Given the description of an element on the screen output the (x, y) to click on. 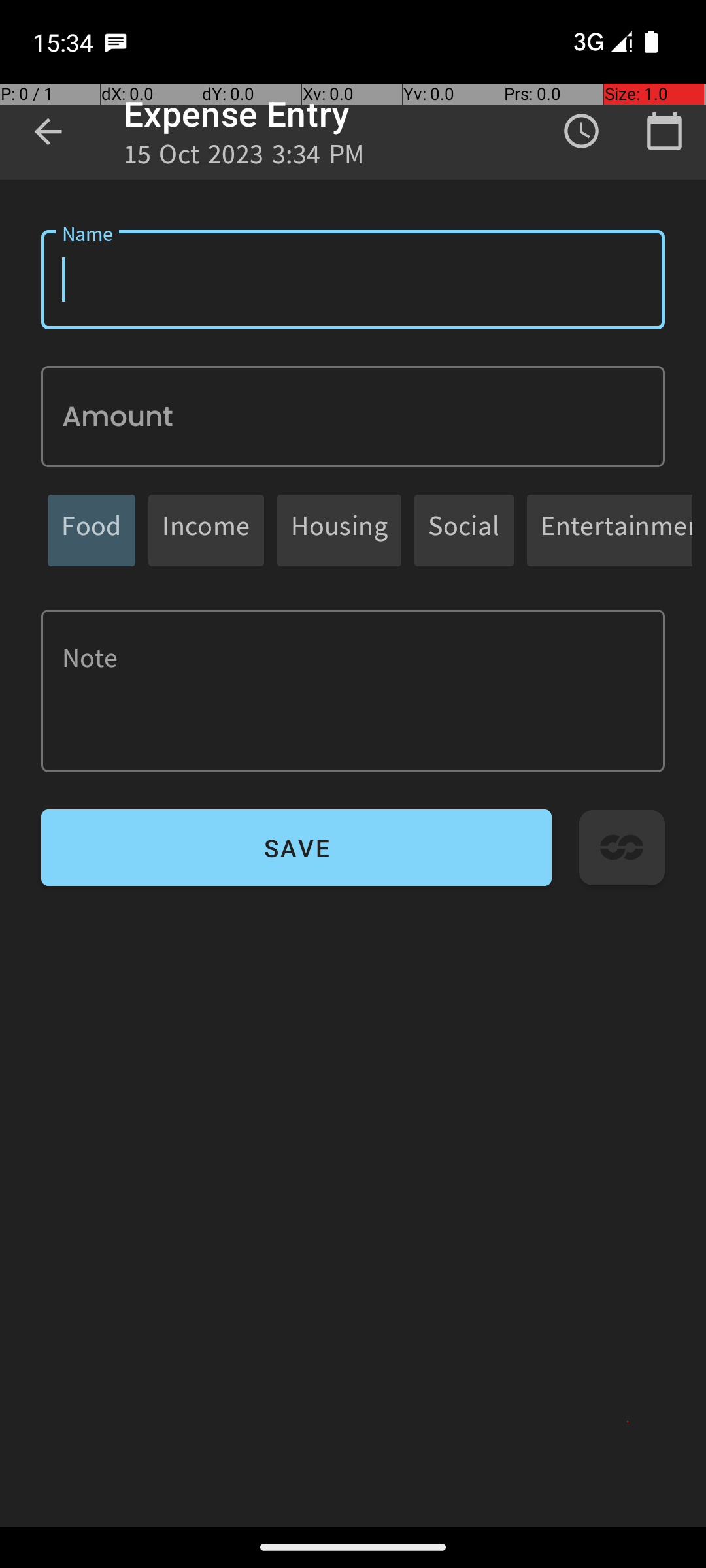
Expense Entry Element type: android.widget.TextView (236, 113)
15 Oct 2023 3:34 PM Element type: android.widget.TextView (244, 157)
Name Element type: android.widget.EditText (352, 279)
SAVE Element type: android.widget.Button (296, 847)
